Given the description of an element on the screen output the (x, y) to click on. 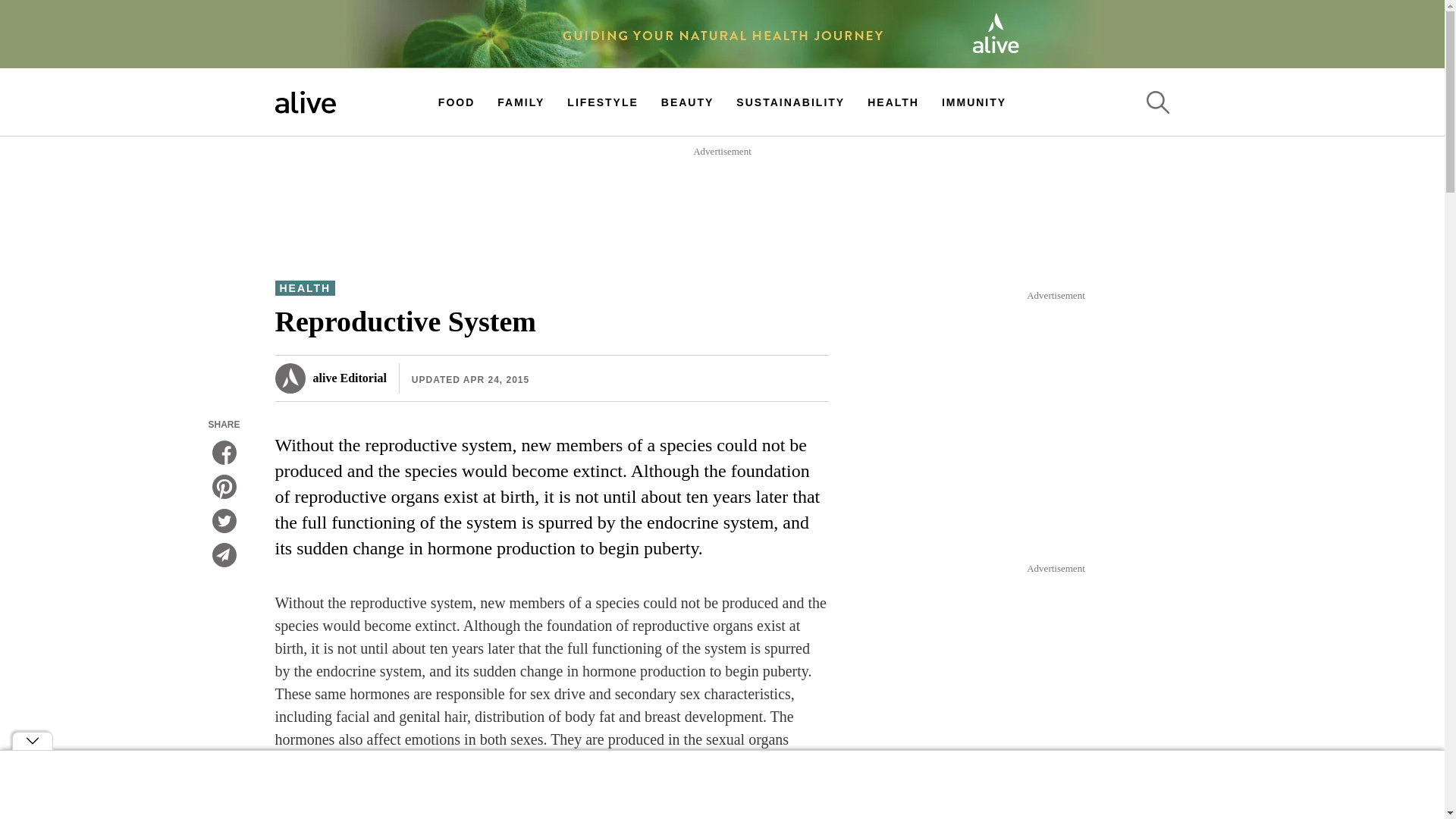
BEAUTY (687, 101)
FOOD (456, 101)
FAMILY (520, 101)
LIFESTYLE (602, 101)
IMMUNITY (974, 101)
SUSTAINABILITY (790, 101)
HEALTH (304, 287)
HEALTH (892, 101)
